Given the description of an element on the screen output the (x, y) to click on. 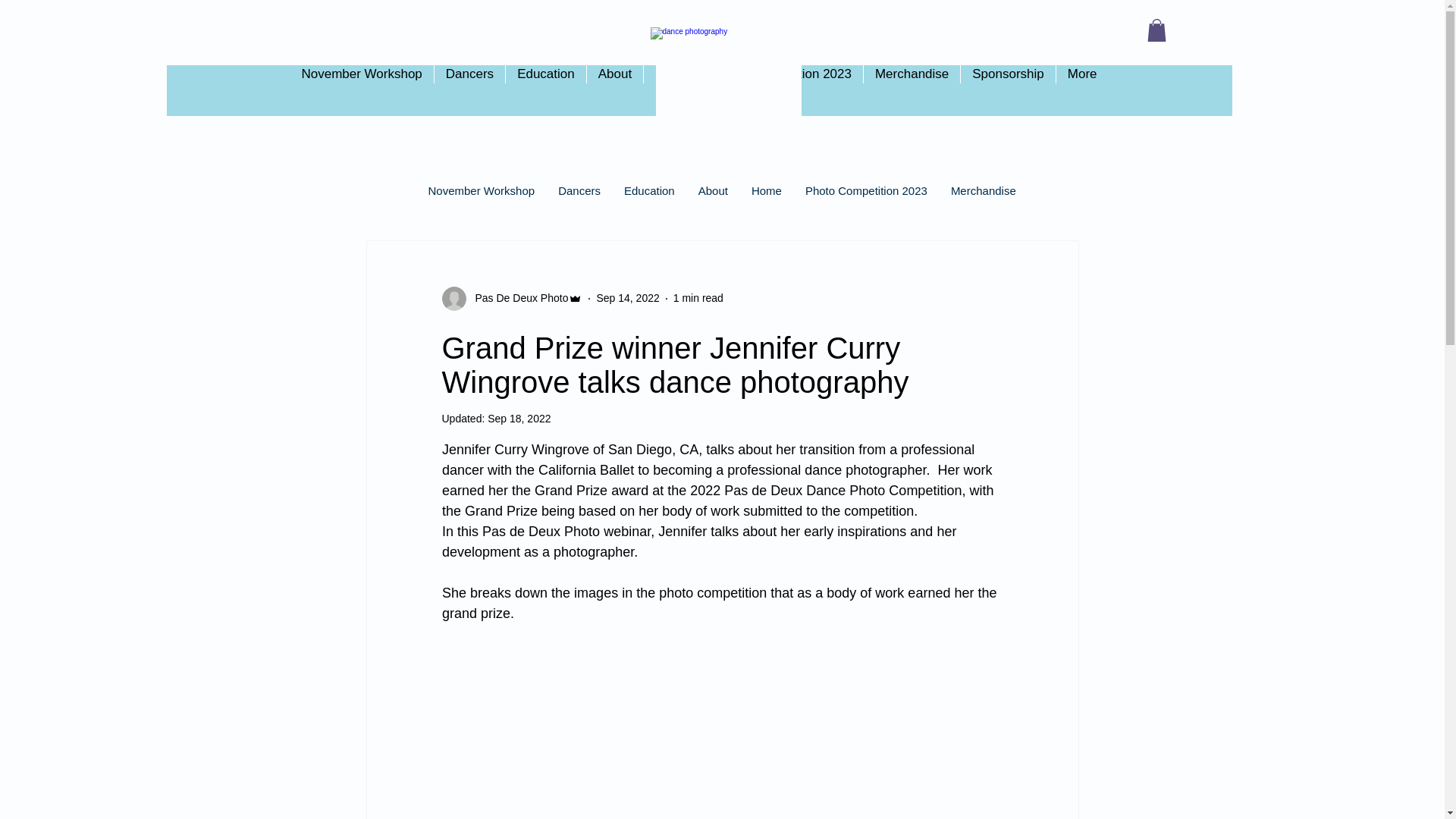
Merchandise (911, 90)
November Workshop (360, 90)
Sep 18, 2022 (518, 418)
About (712, 201)
Dancers (469, 90)
Sponsorship (1007, 90)
Pas De Deux Photo (516, 298)
Education (545, 90)
1 min read (697, 297)
Education (648, 201)
